Given the description of an element on the screen output the (x, y) to click on. 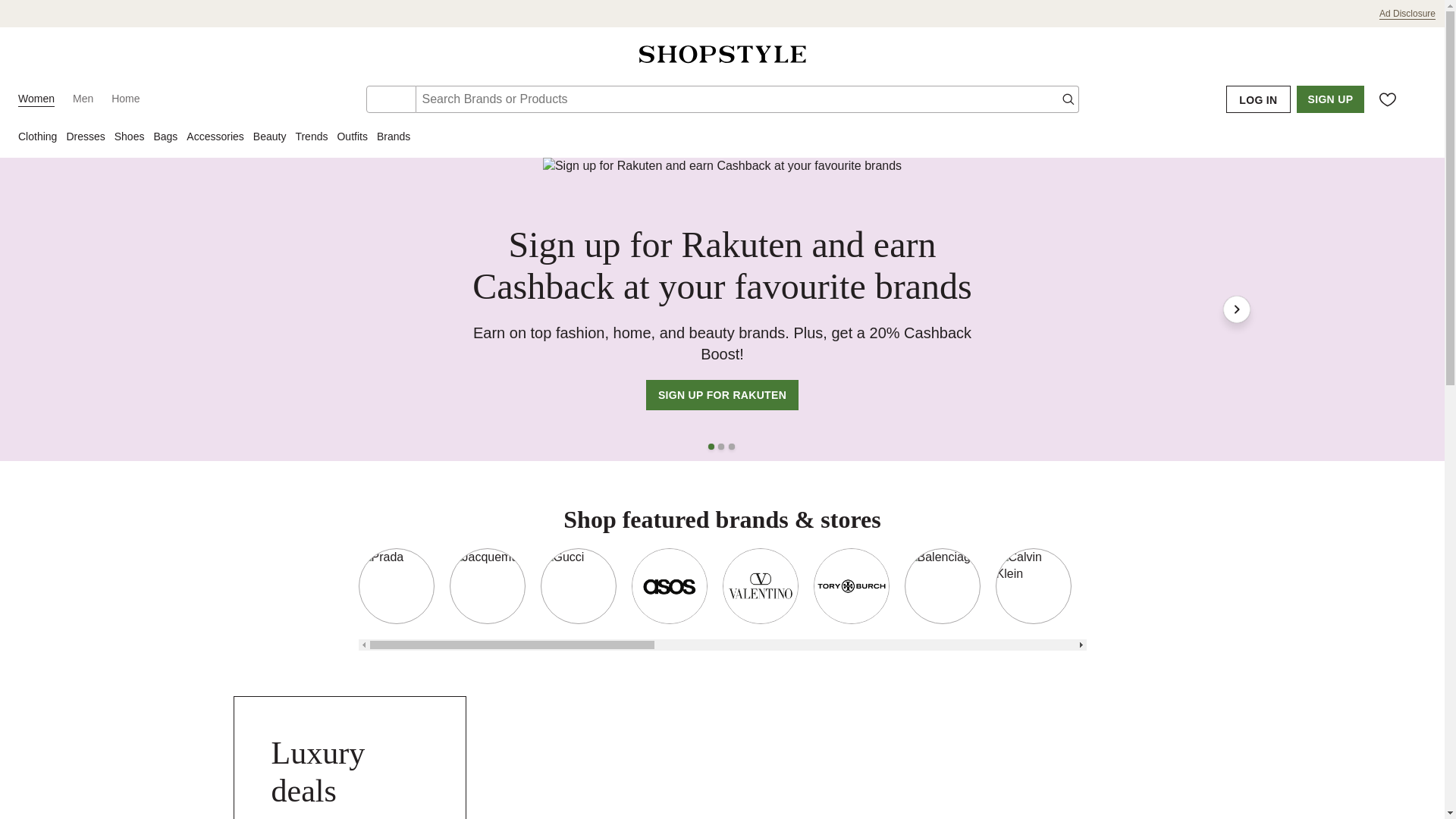
Men (82, 98)
Home (125, 98)
Ad Disclosure (1406, 13)
LOG IN (1257, 99)
Global search input (746, 99)
Clothing (41, 137)
Women (36, 98)
My Favorites (1387, 99)
SIGN UP (1330, 99)
